Given the description of an element on the screen output the (x, y) to click on. 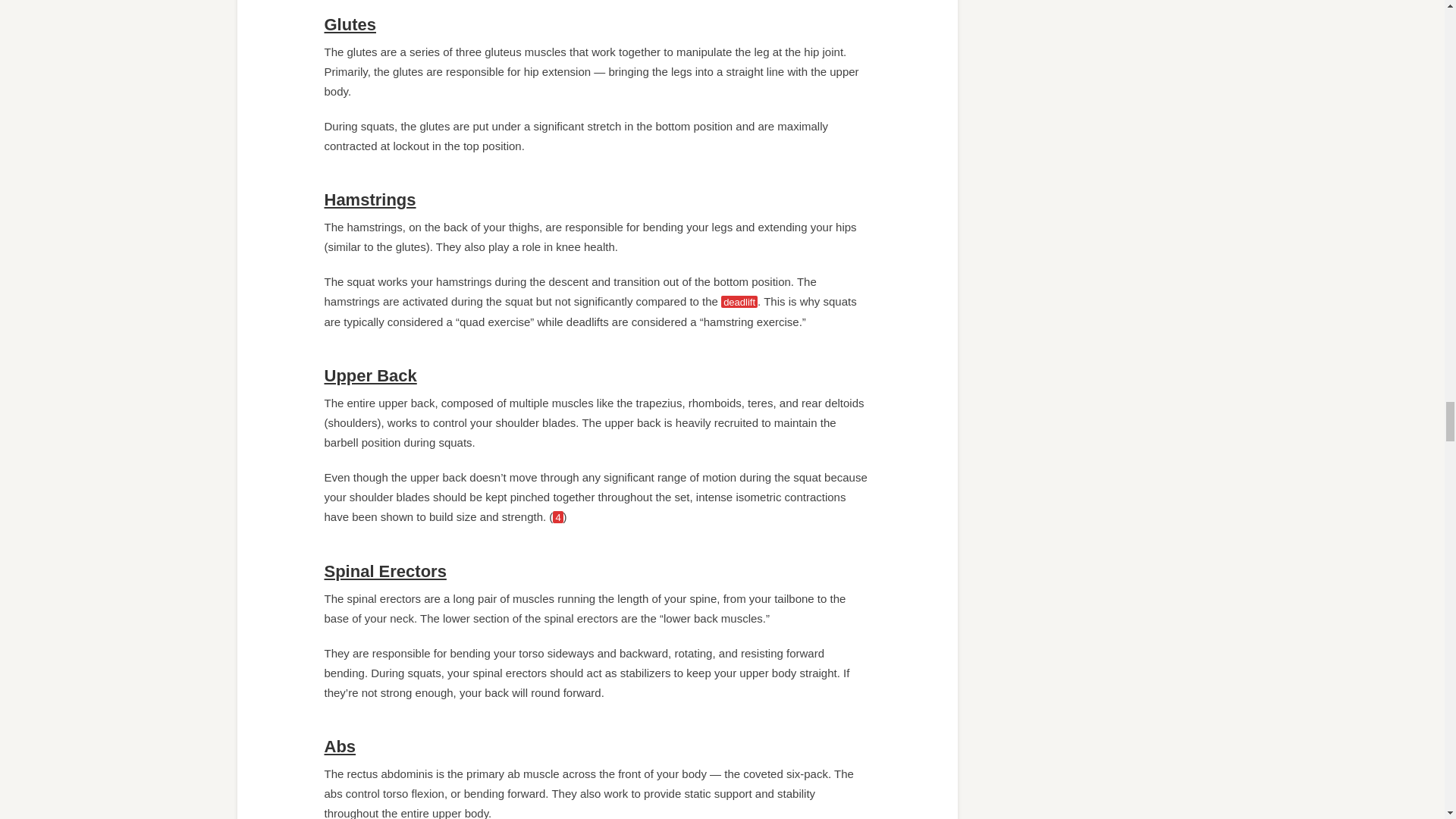
deadlift (738, 301)
